Given the description of an element on the screen output the (x, y) to click on. 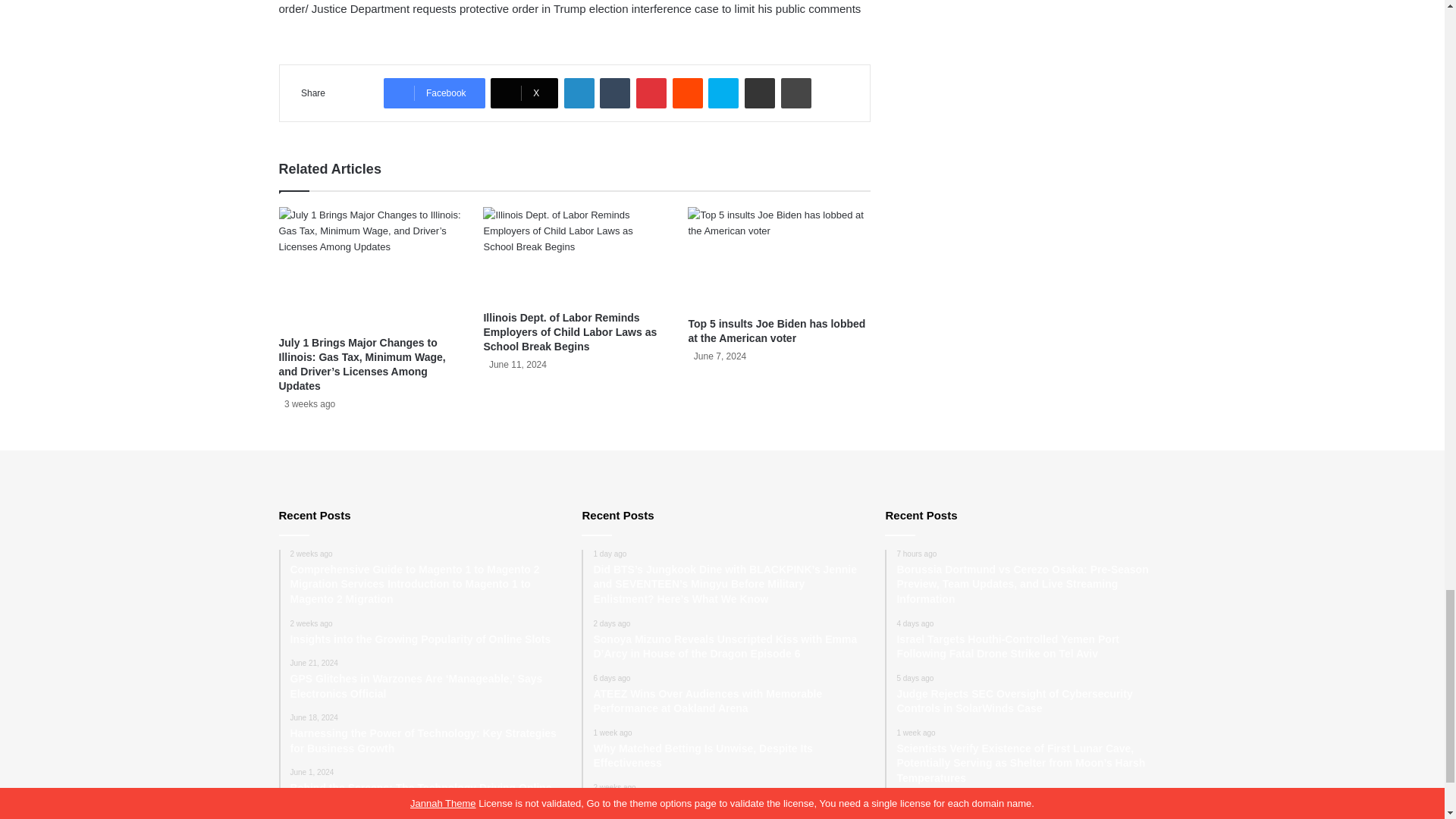
Facebook (434, 92)
Skype (722, 92)
X (523, 92)
Reddit (687, 92)
Tumblr (614, 92)
LinkedIn (579, 92)
Facebook (434, 92)
Pinterest (651, 92)
